Given the description of an element on the screen output the (x, y) to click on. 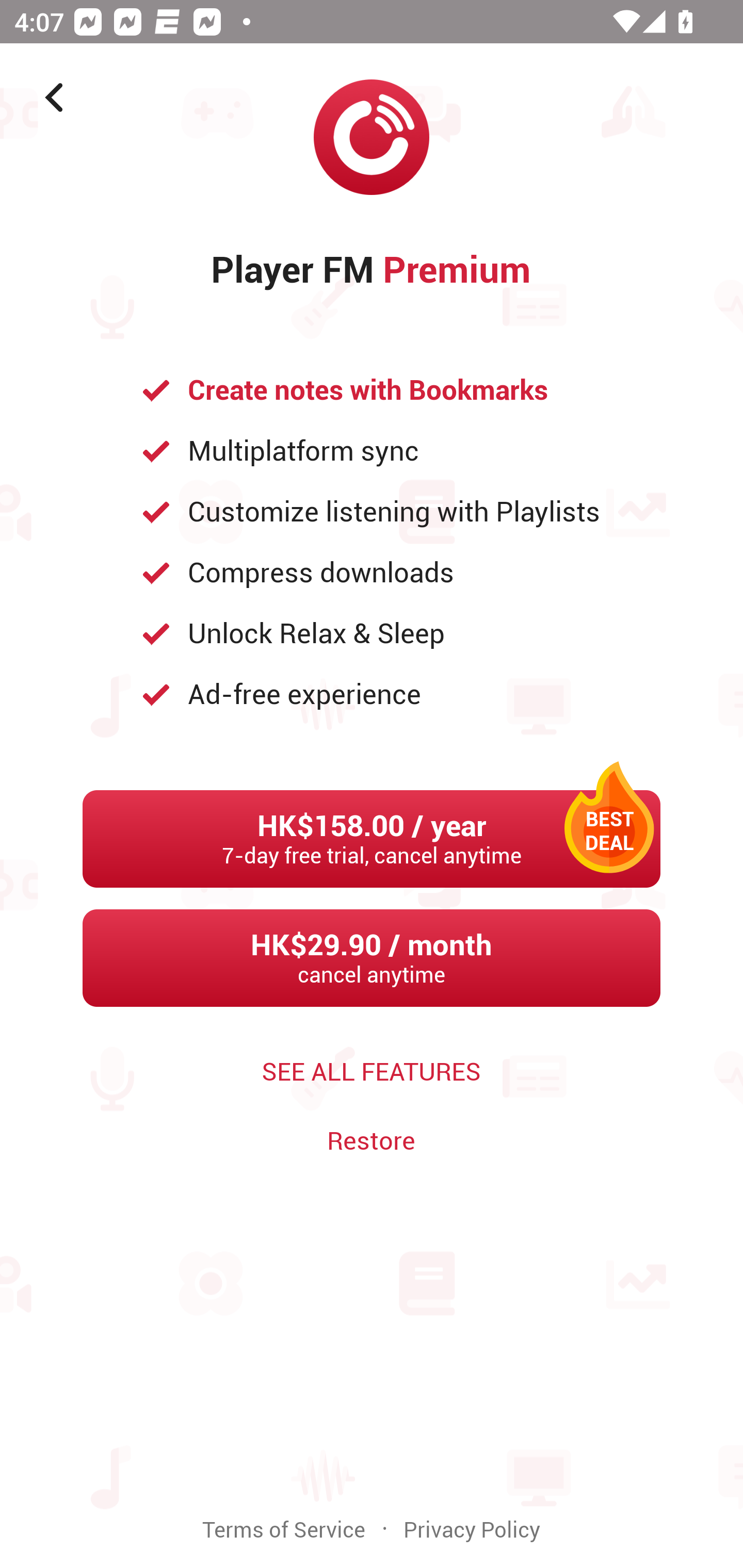
Upgrade HK$29.90 / month cancel anytime (371, 957)
SEE ALL FEATURES (371, 1071)
Restore (370, 1140)
Terms of Service (283, 1530)
Privacy Policy (471, 1530)
